Given the description of an element on the screen output the (x, y) to click on. 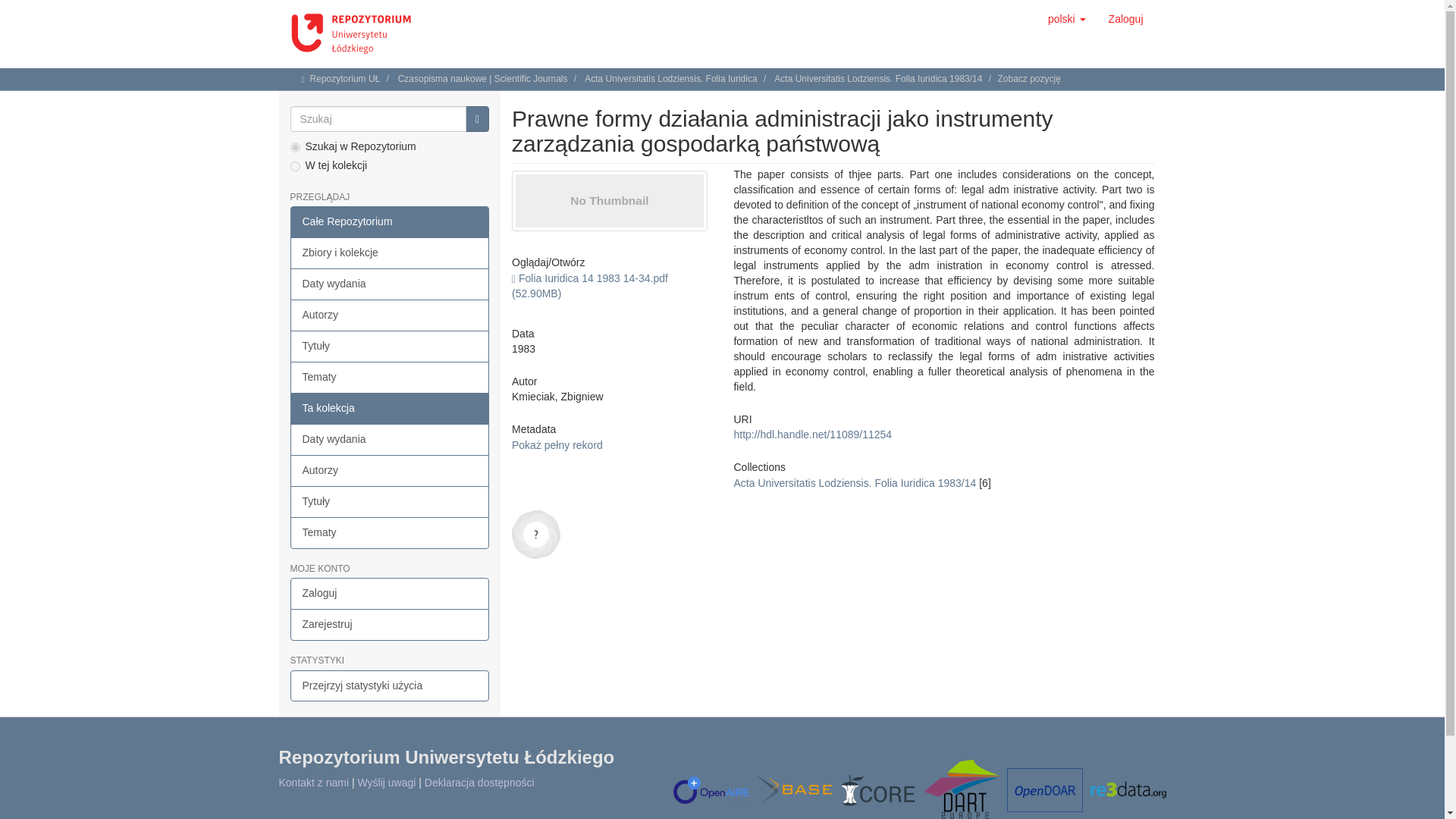
Ta kolekcja (389, 409)
Tematy (389, 377)
Zaloguj (1125, 18)
Tematy (389, 532)
Daty wydania (389, 284)
Zbiory i kolekcje (389, 253)
Zaloguj (389, 593)
Acta Universitatis Lodziensis. Folia Iuridica (671, 78)
Zarejestruj (389, 624)
Daty wydania (389, 439)
